Given the description of an element on the screen output the (x, y) to click on. 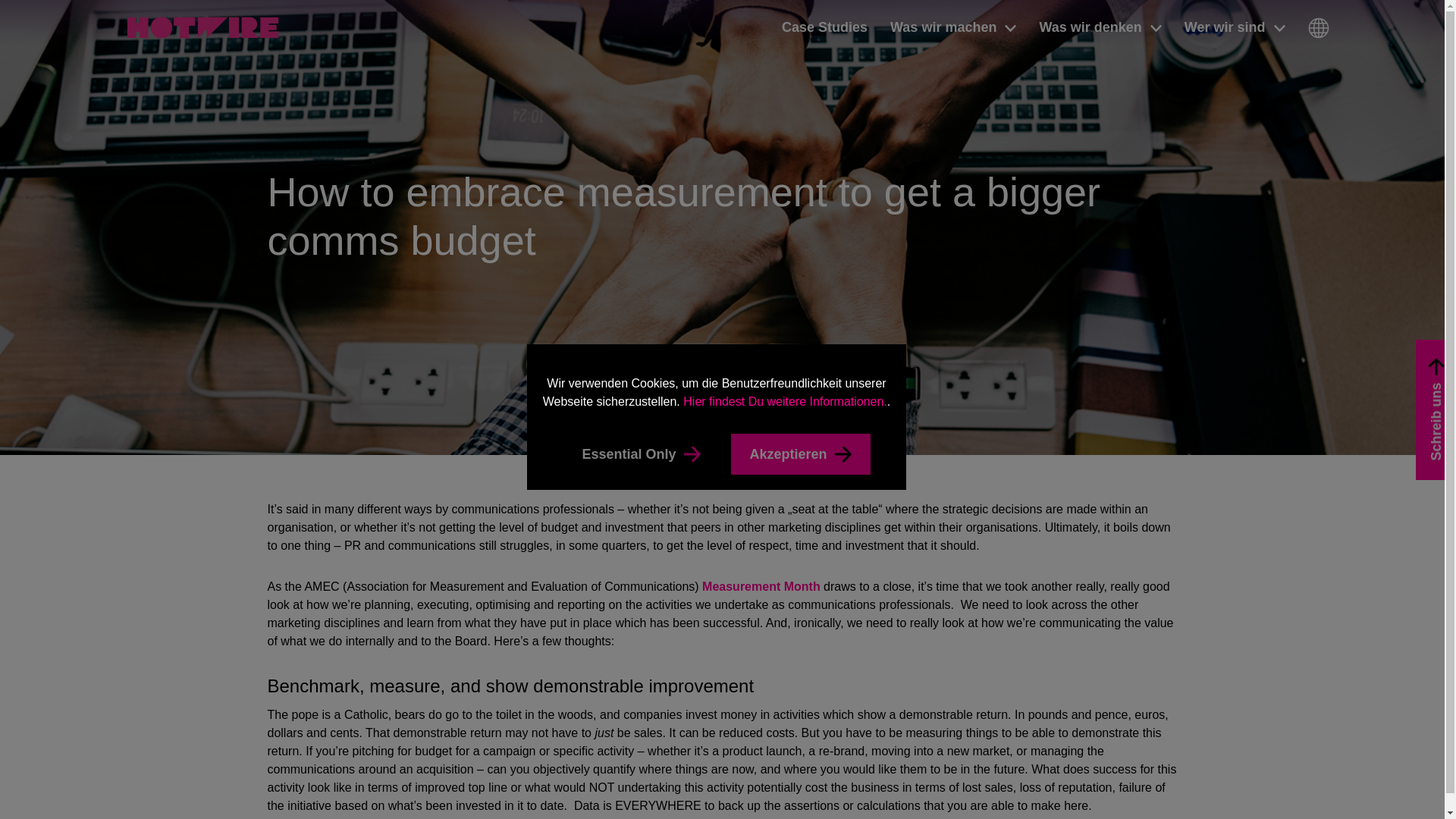
Was wir denken (1099, 27)
Was wir machen (952, 27)
Country (1317, 26)
Wer wir sind (1235, 27)
Case Studies (824, 27)
